Given the description of an element on the screen output the (x, y) to click on. 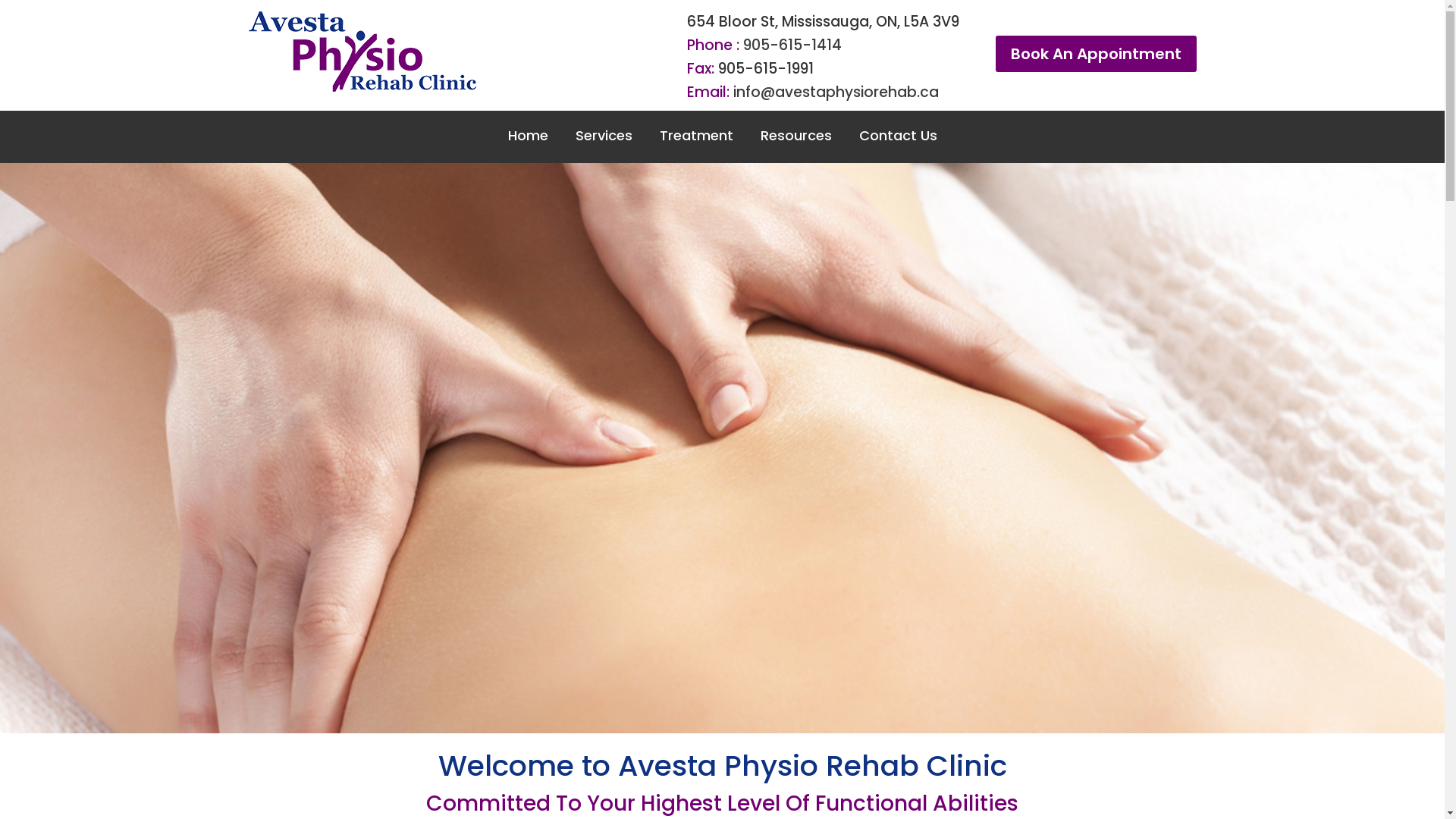
Avesta Physio Rehab Clinic Element type: hover (362, 51)
Book An Appointment Element type: text (1094, 53)
Home Element type: text (528, 143)
Contact Us Element type: text (897, 143)
info@avestaphysiorehab.ca Element type: text (835, 91)
905-615-1414 Element type: text (792, 44)
Treatment Element type: text (696, 143)
Resources Element type: text (795, 143)
Services Element type: text (602, 143)
